Given the description of an element on the screen output the (x, y) to click on. 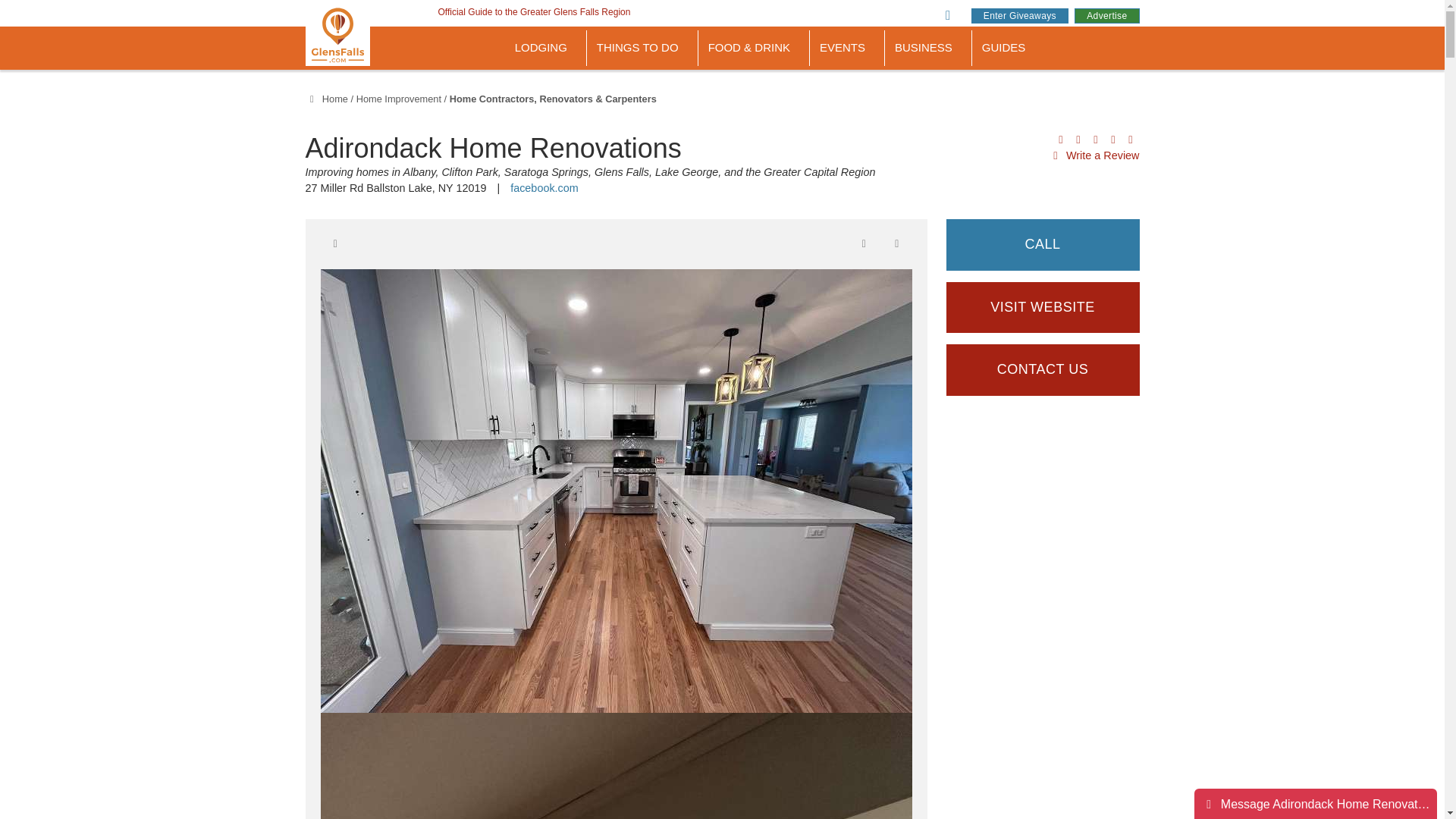
THINGS TO DO (642, 48)
Enter Giveaways (1019, 14)
LODGING (545, 48)
Advertise (1106, 14)
